Given the description of an element on the screen output the (x, y) to click on. 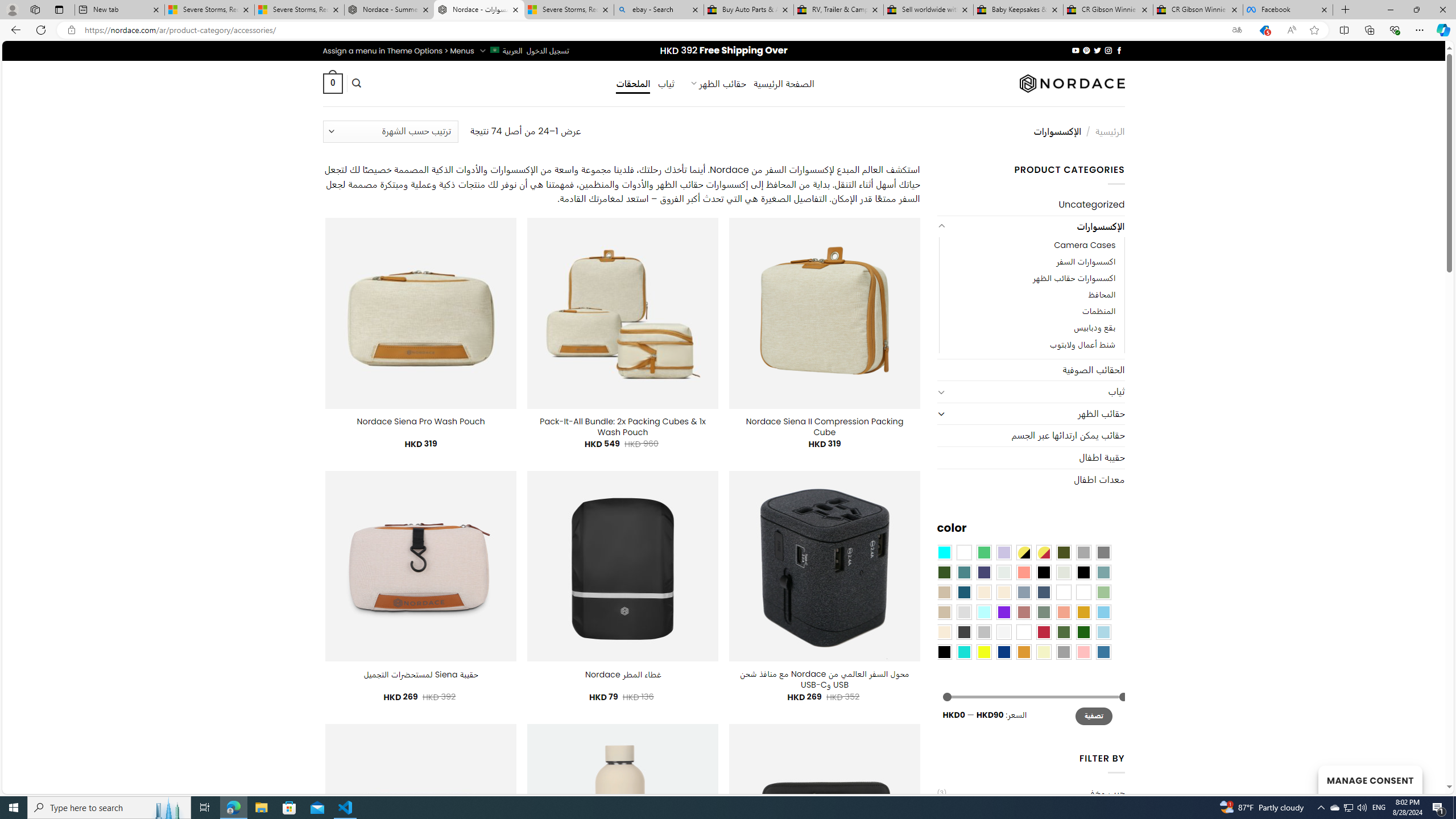
Follow on Facebook (1118, 50)
View site information (70, 29)
Teal (963, 572)
Baby Keepsakes & Announcements for sale | eBay (1018, 9)
Hale Navy (1043, 591)
Nordace (1072, 83)
Khaki (1082, 591)
Clear (963, 551)
